Given the description of an element on the screen output the (x, y) to click on. 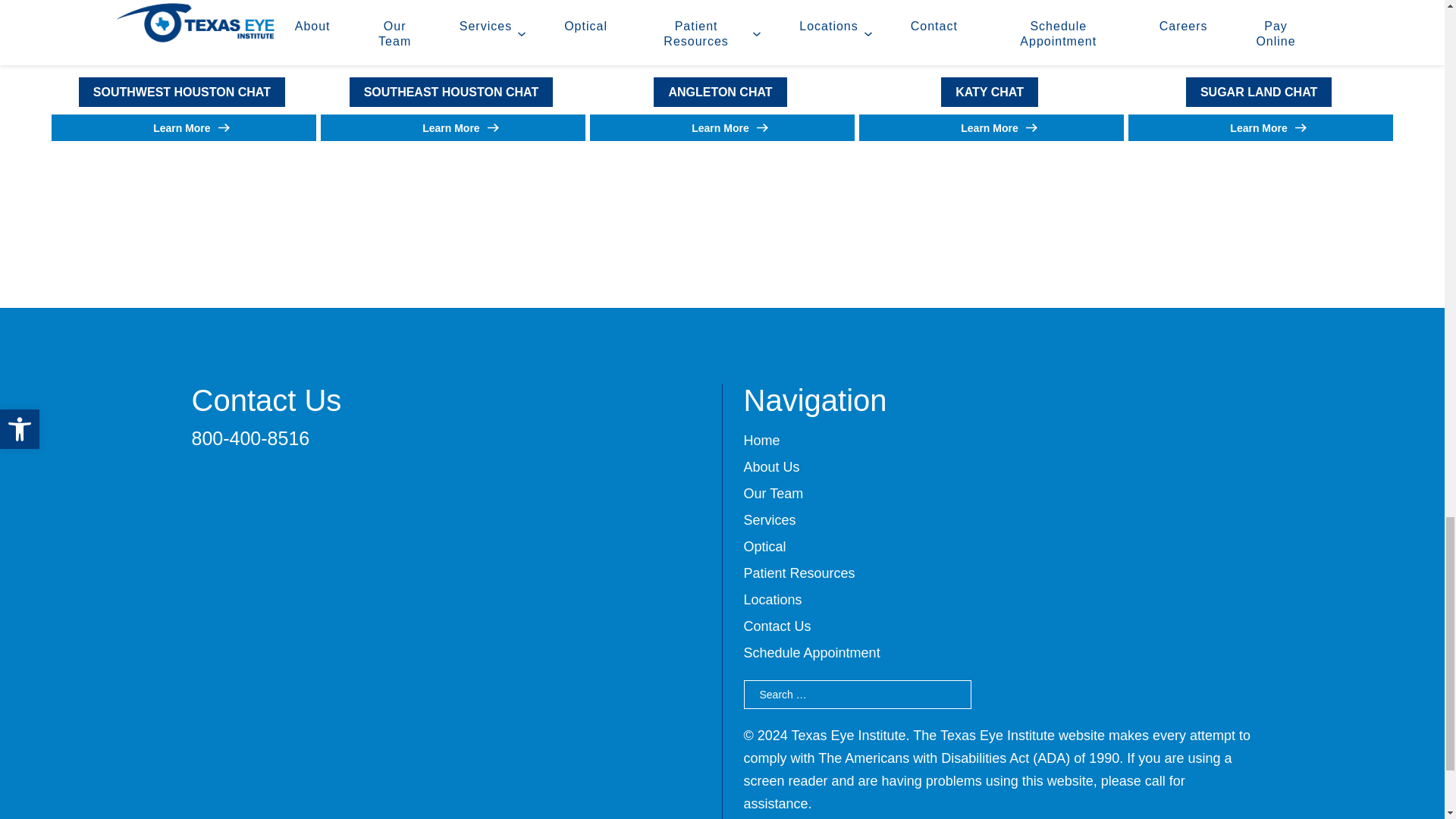
Search for: (856, 694)
